Given the description of an element on the screen output the (x, y) to click on. 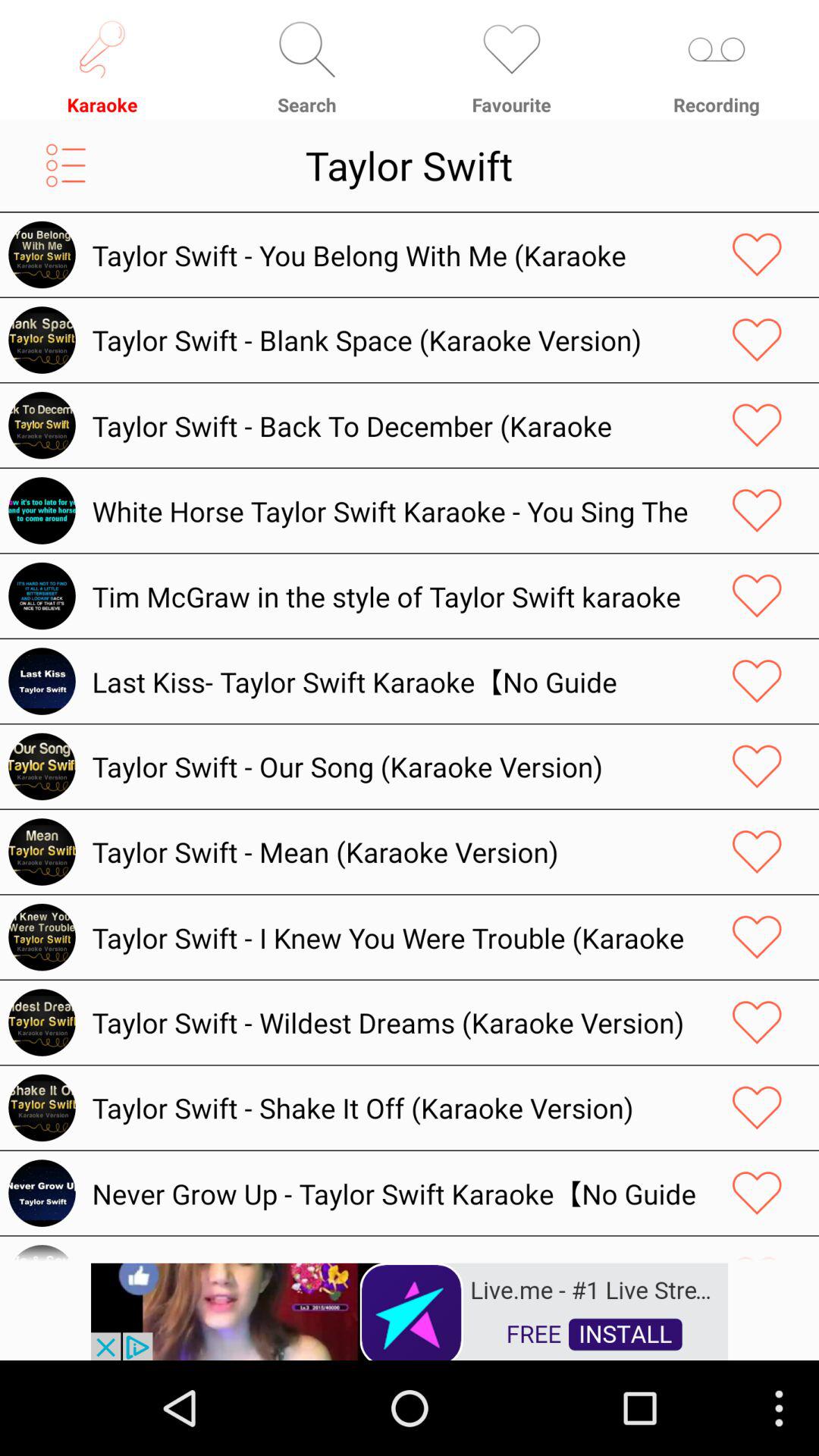
add the song to your favorite list (756, 1107)
